Given the description of an element on the screen output the (x, y) to click on. 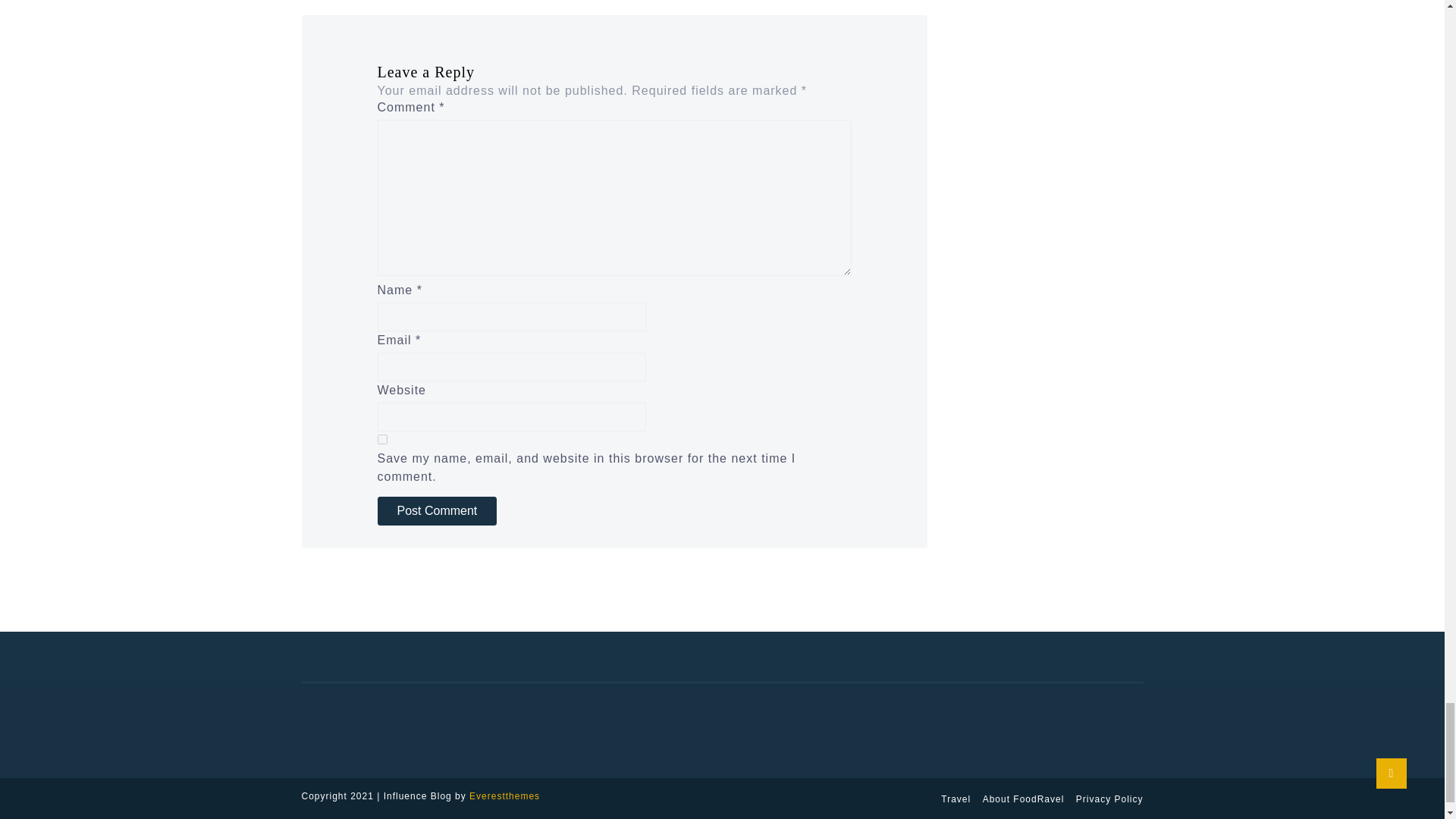
yes (382, 439)
Post Comment (437, 510)
